Given the description of an element on the screen output the (x, y) to click on. 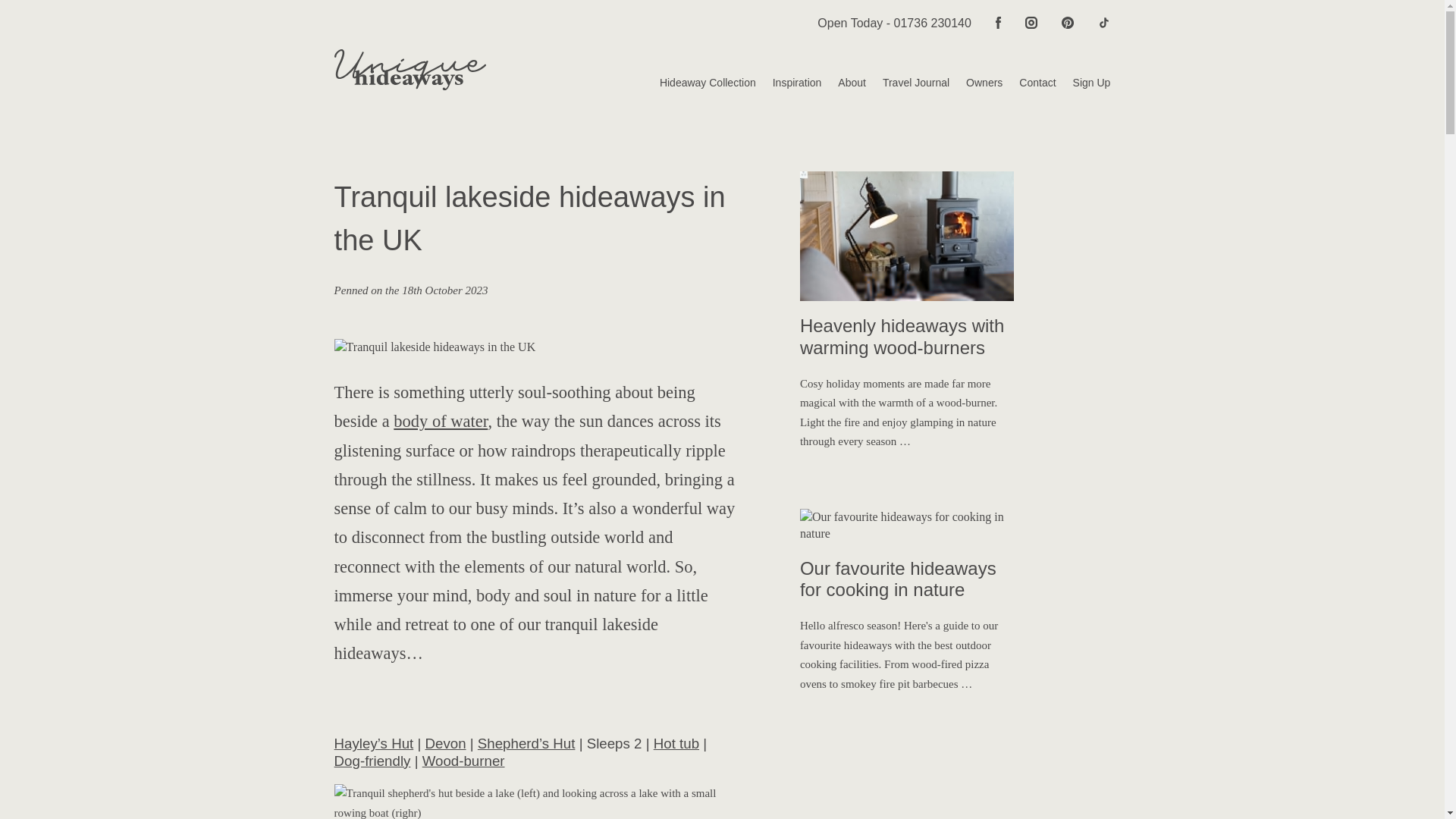
Devon (445, 743)
Contact (1029, 83)
Dog-friendly (372, 760)
Inspiration (788, 83)
Travel Journal (907, 83)
Hideaway Collection (699, 83)
Hayley's Hut, Devon (536, 801)
About (843, 83)
Hot tub (675, 743)
body of water (440, 420)
Sign Up (1083, 83)
Owners (976, 83)
Wood-burner (463, 760)
